Given the description of an element on the screen output the (x, y) to click on. 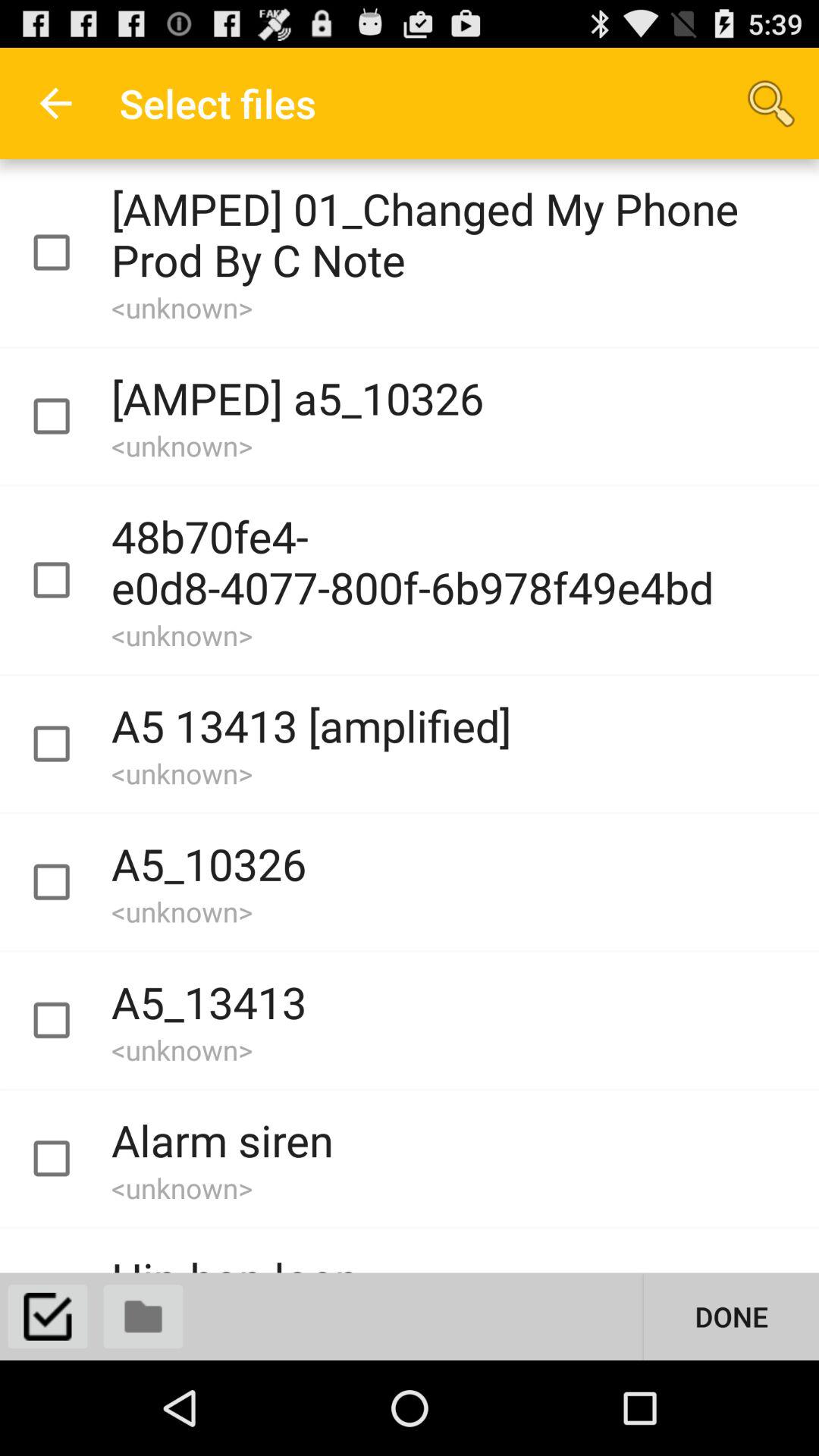
select file (65, 1158)
